Given the description of an element on the screen output the (x, y) to click on. 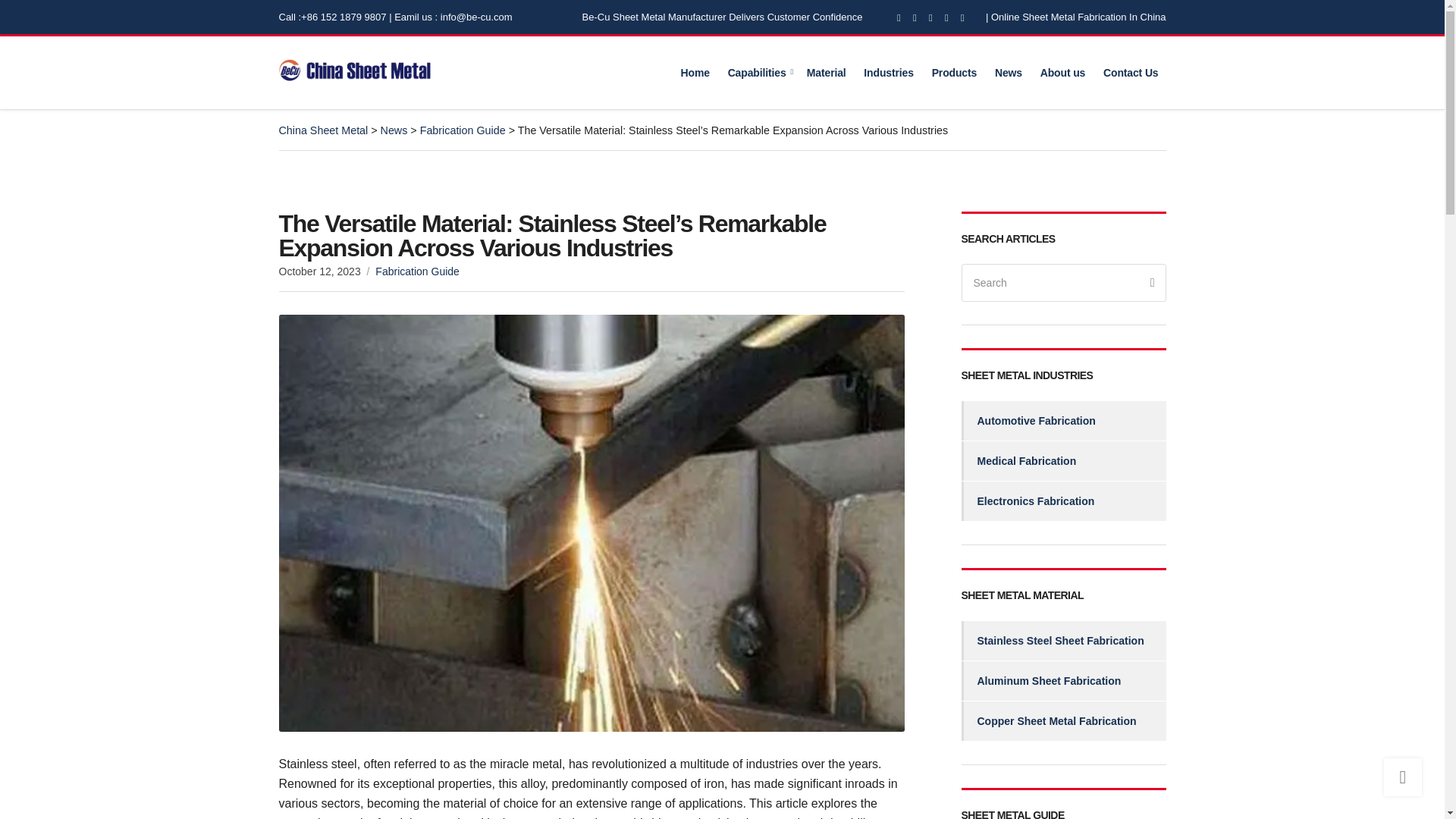
Fabrication Guide (417, 271)
Go to China Sheet Metal. (323, 130)
Industries (888, 72)
Material (825, 72)
LinkedIn (963, 17)
Contact Us (1130, 72)
Automotive Fabrication (1063, 420)
Go to the Fabrication Guide Category archives. (462, 130)
News (1008, 72)
YouTube (947, 17)
